Given the description of an element on the screen output the (x, y) to click on. 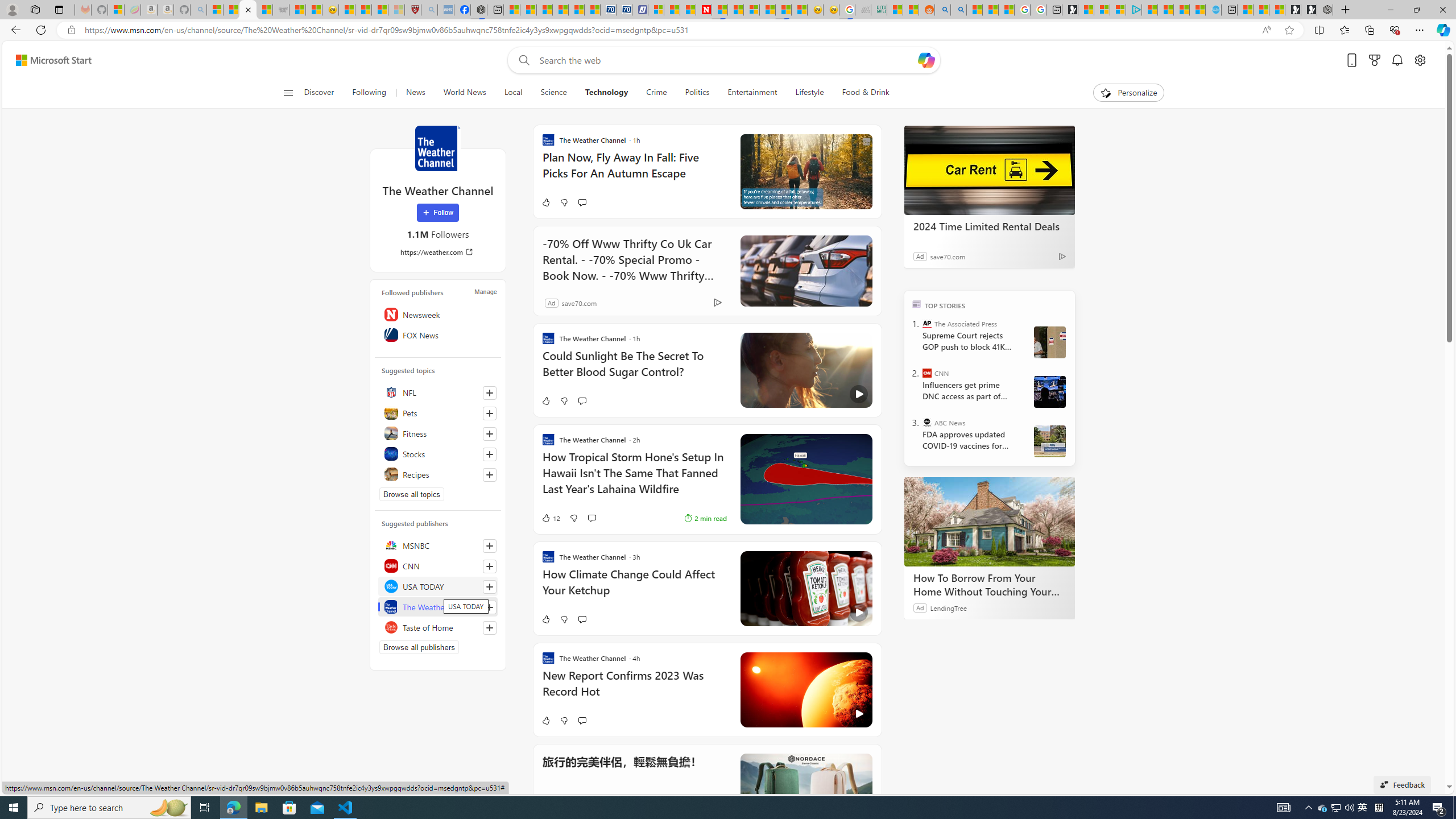
https://weather.com (438, 251)
Class: hero-image (805, 689)
